Given the description of an element on the screen output the (x, y) to click on. 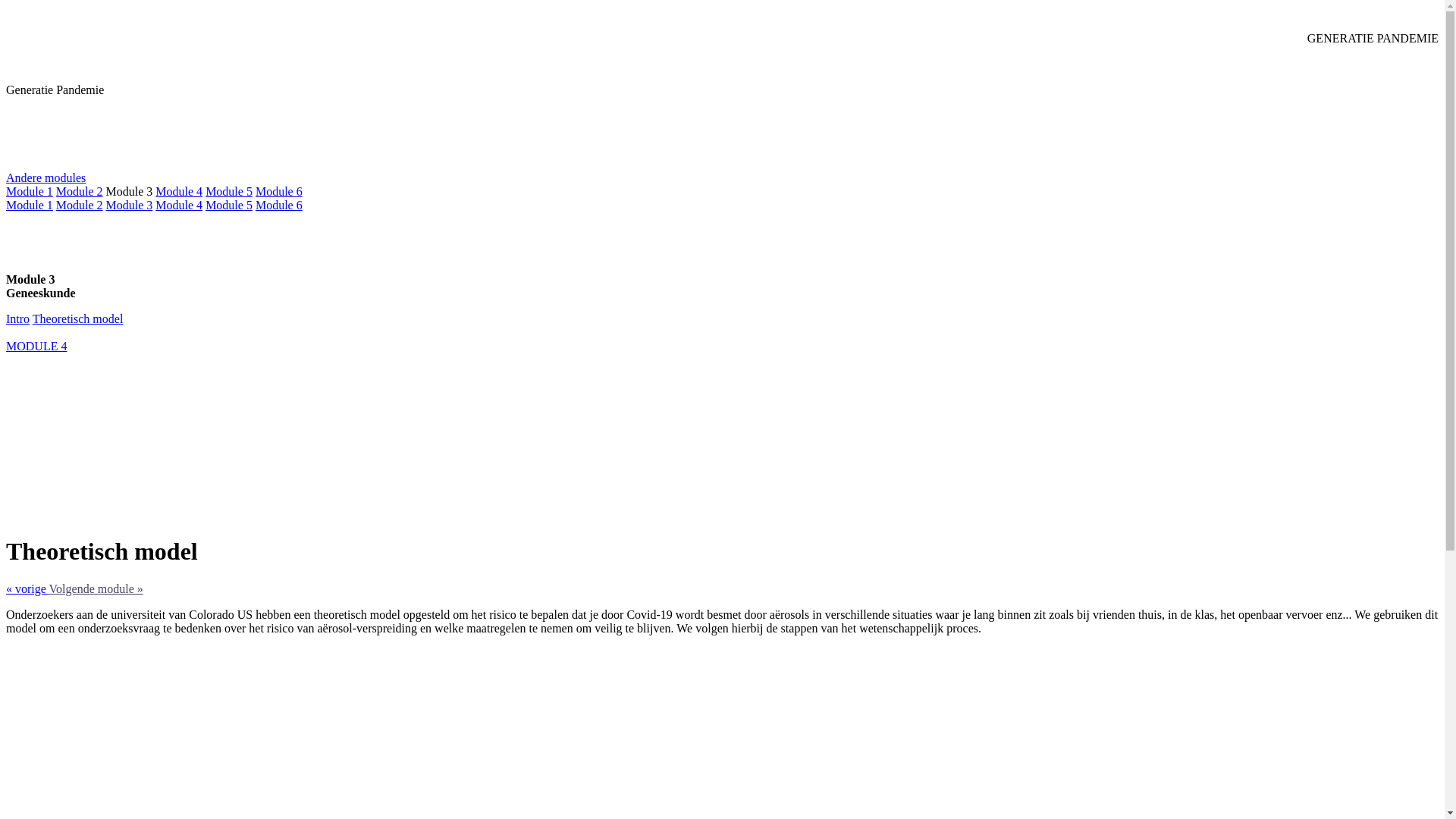
Module 4 Element type: text (178, 191)
Module 4 Element type: text (178, 204)
Module 1 Element type: text (29, 191)
Module 3 Element type: text (129, 191)
Module 1 Element type: text (29, 204)
Intro Element type: text (17, 318)
Module 2 Element type: text (79, 191)
Andere modules Element type: text (45, 177)
Module 5 Element type: text (228, 204)
Theoretisch model Element type: text (77, 318)
Module 3 Element type: text (129, 204)
Module 6 Element type: text (278, 204)
MODULE 4 Element type: text (36, 345)
Module 2 Element type: text (79, 204)
Module 6 Element type: text (278, 191)
Module 5 Element type: text (228, 191)
